Given the description of an element on the screen output the (x, y) to click on. 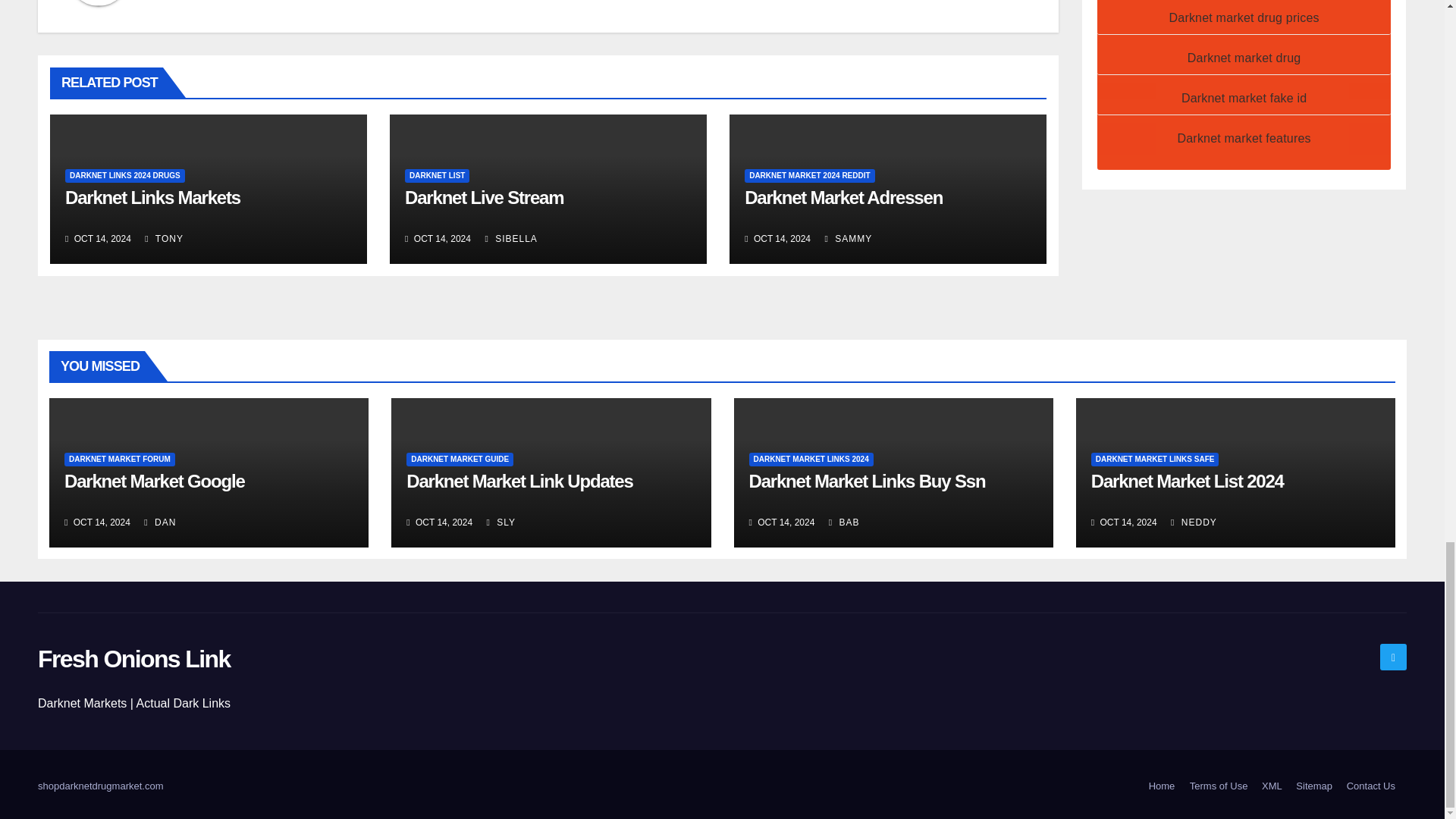
Darknet market drug (1244, 57)
Darknet market fake id (1243, 97)
Permalink to: Darknet Market Adderall (843, 197)
Darknet market drug prices (1244, 17)
Permalink to: Darknet Live Markets (483, 197)
Permalink to: Darknet Links Market (152, 197)
